Given the description of an element on the screen output the (x, y) to click on. 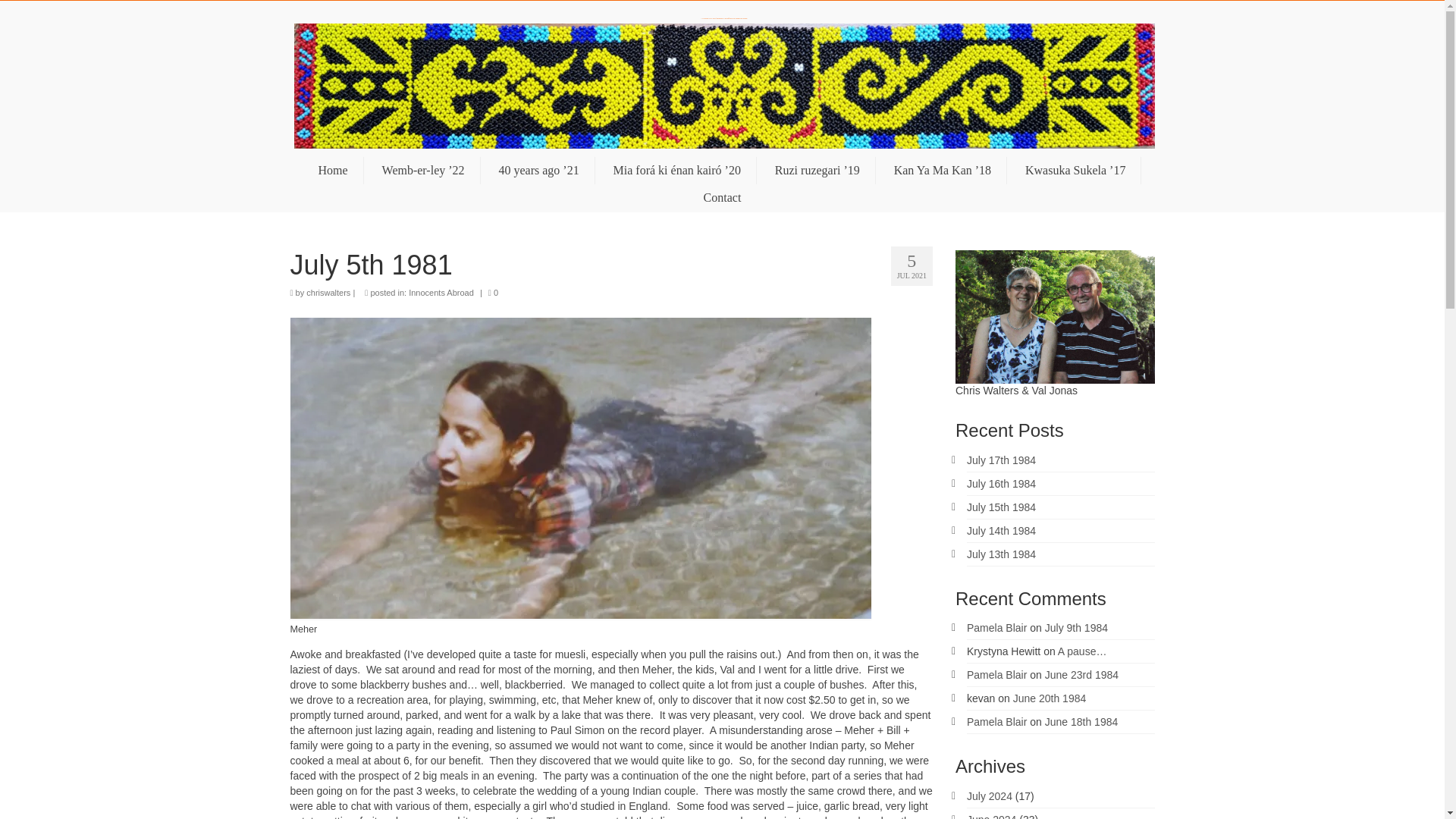
July 16th 1984 (1000, 483)
Contact (722, 197)
Innocents Abroad (441, 292)
July 13th 1984 (1000, 553)
chriswalters (327, 292)
July 15th 1984 (1000, 507)
Home (332, 170)
July 14th 1984 (1000, 530)
July 17th 1984 (1000, 460)
